Given the description of an element on the screen output the (x, y) to click on. 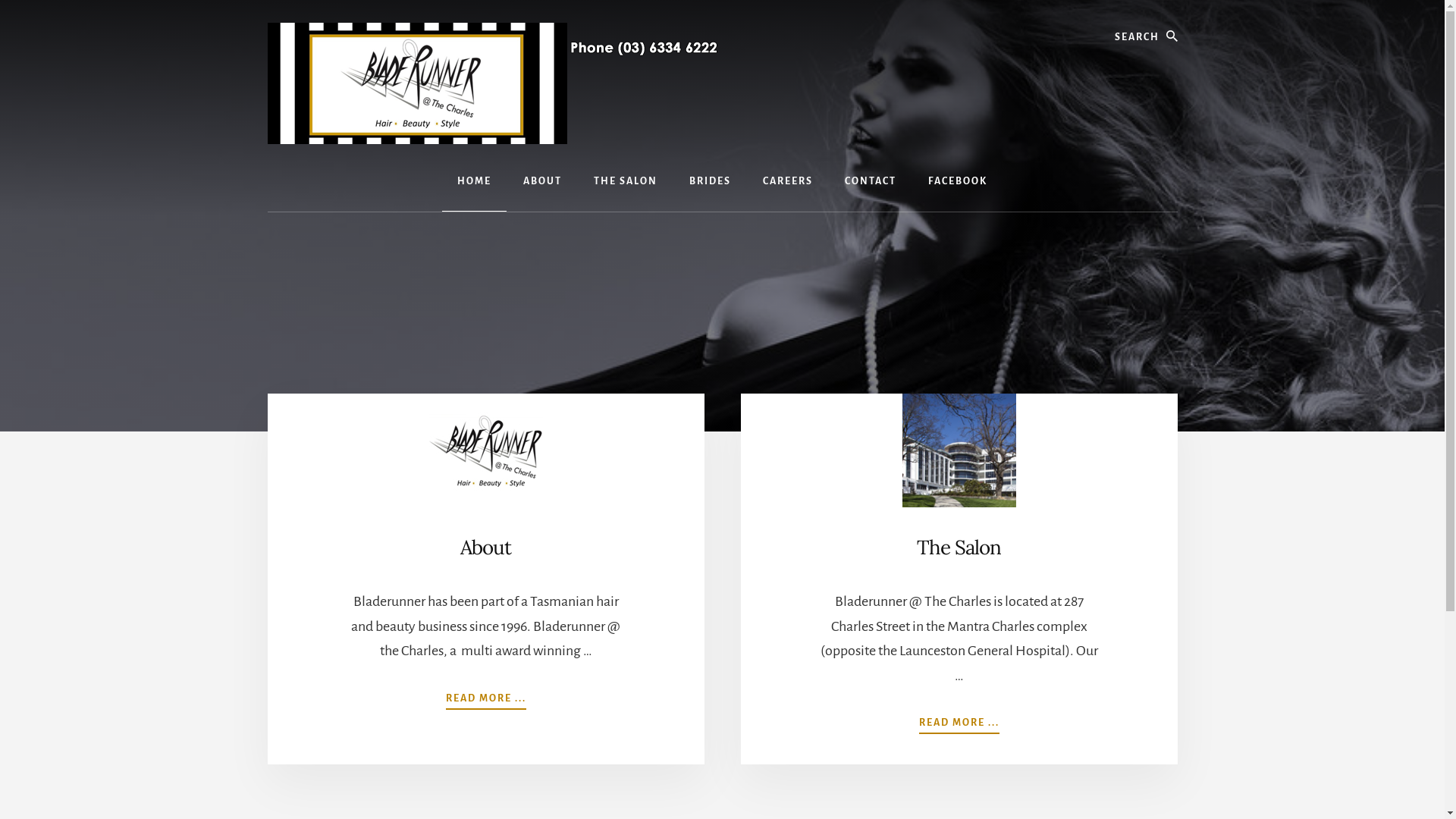
ABOUT Element type: text (542, 181)
THE SALON Element type: text (625, 181)
CAREERS Element type: text (787, 181)
CONTACT Element type: text (870, 181)
The Salon Element type: text (958, 546)
HOME Element type: text (474, 181)
BRIDES Element type: text (710, 181)
About Element type: text (485, 546)
READ MORE ...
ABOUT THE SALON Element type: text (959, 719)
Search Element type: text (1176, 14)
Skip to main content Element type: text (0, 0)
FACEBOOK Element type: text (957, 181)
READ MORE ...
ABOUT ABOUT Element type: text (485, 694)
